Given the description of an element on the screen output the (x, y) to click on. 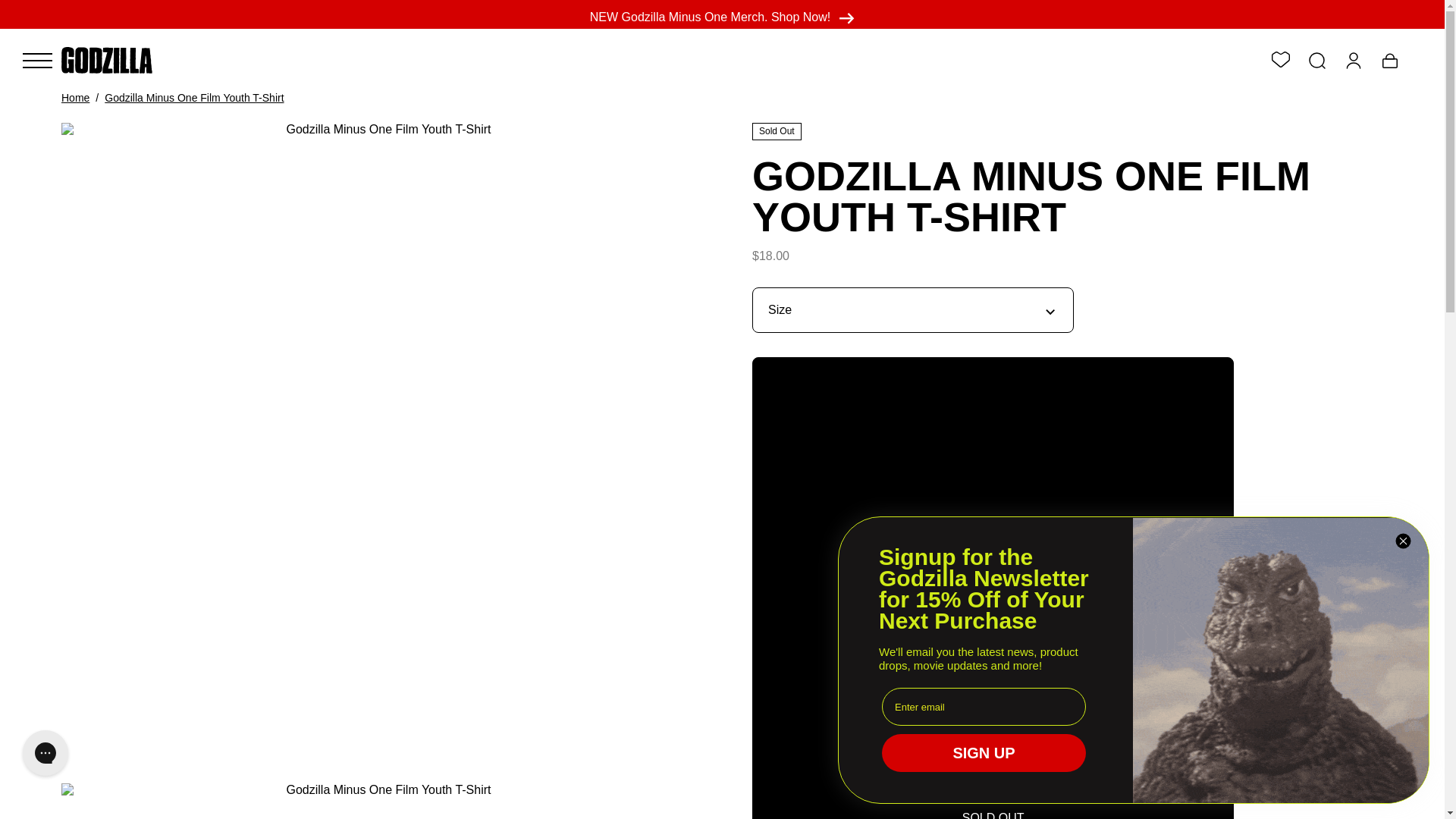
Gorgias live chat messenger (44, 752)
Home (74, 97)
Close dialog 2 (1402, 540)
NEW Godzilla Minus One Merch. Shop Now! (722, 17)
